Given the description of an element on the screen output the (x, y) to click on. 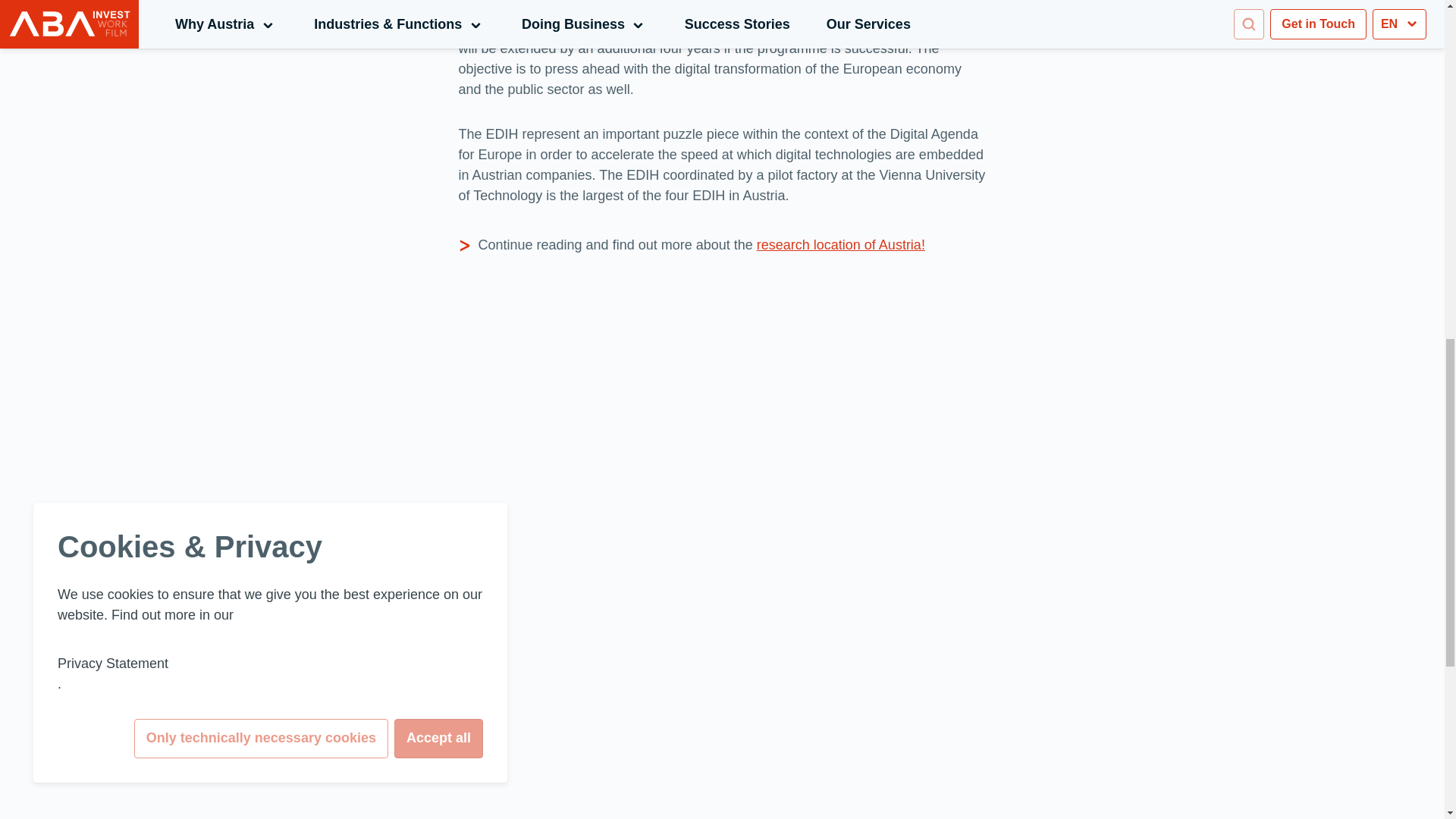
research location of Austria! (840, 243)
